Given the description of an element on the screen output the (x, y) to click on. 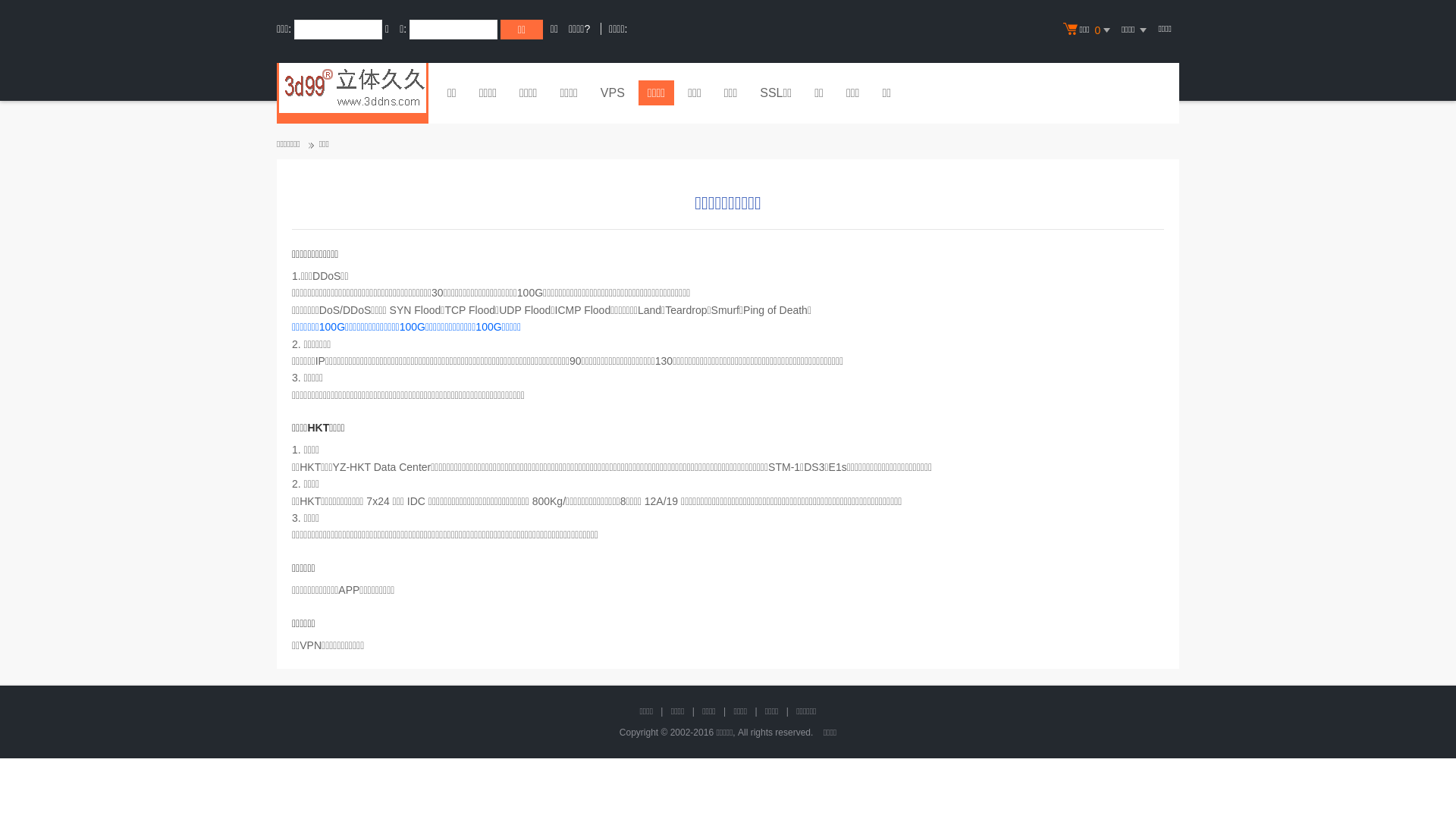
VPS Element type: text (612, 94)
